Given the description of an element on the screen output the (x, y) to click on. 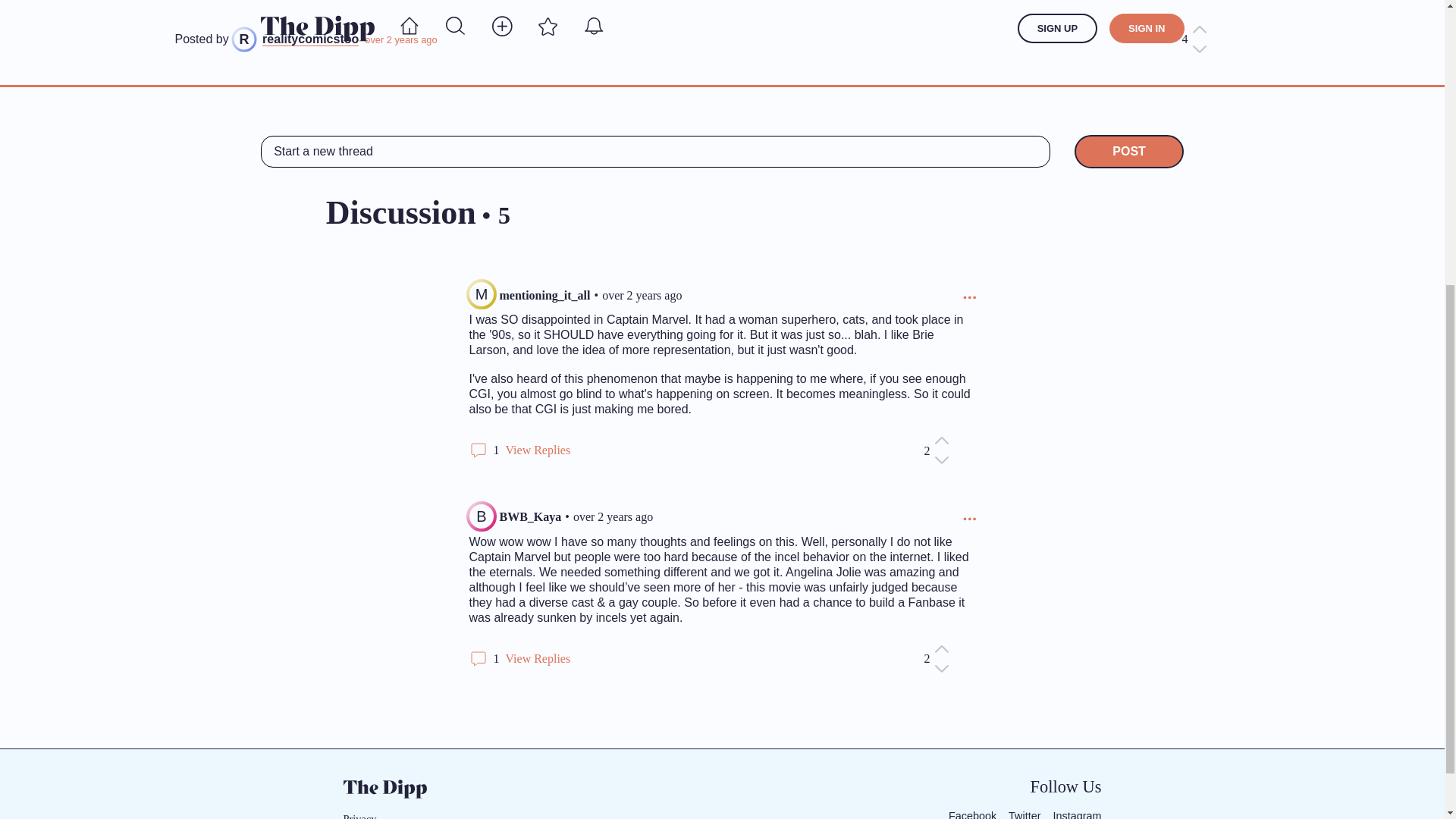
R (242, 38)
B (481, 515)
View Replies (537, 658)
over 2 years ago (612, 516)
over 2 years ago (641, 295)
M (481, 293)
View Replies (537, 449)
Dipp (384, 788)
realitycomicstoo (310, 38)
POST (1128, 151)
Start a new thread (654, 151)
